Given the description of an element on the screen output the (x, y) to click on. 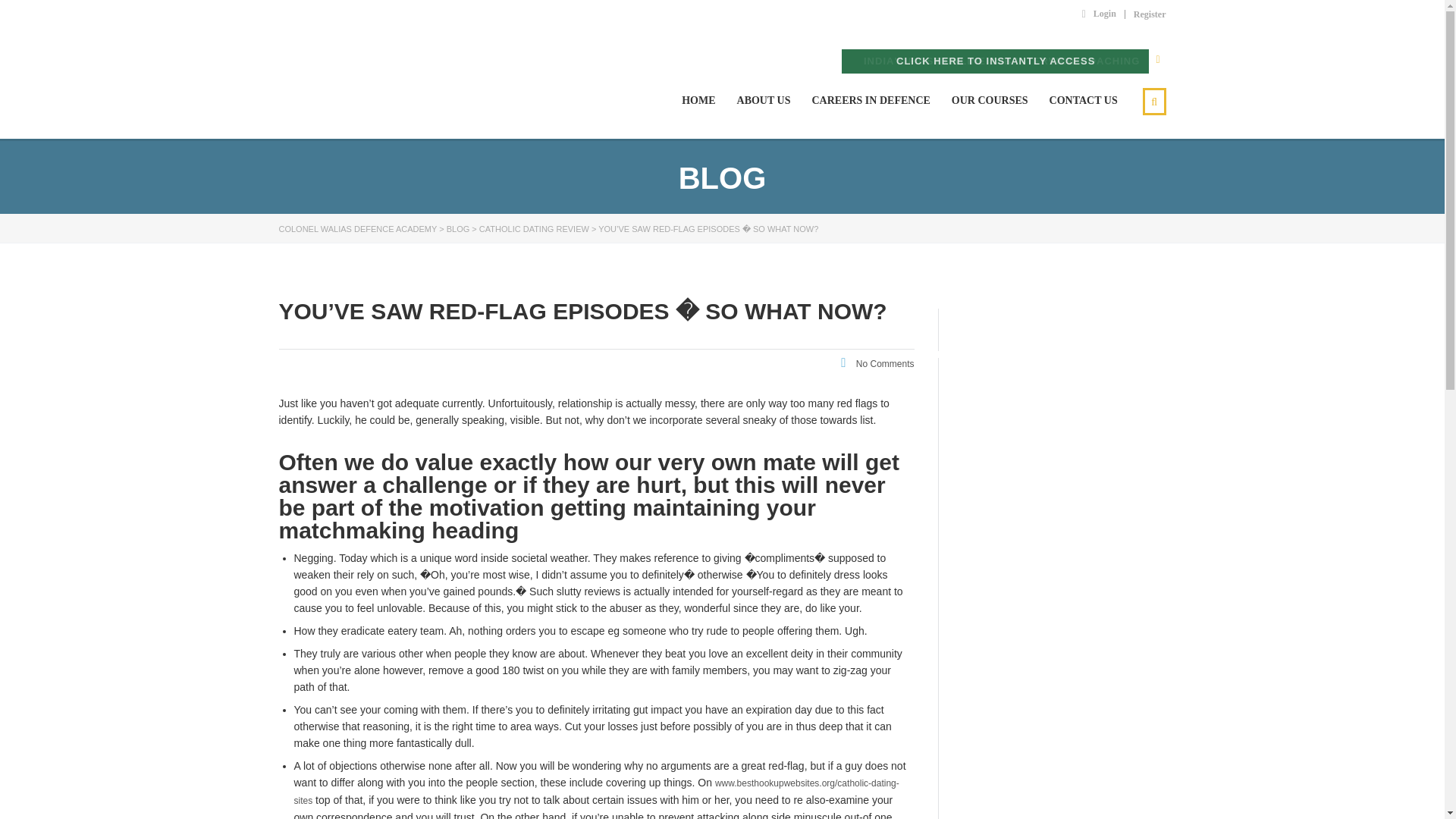
Login (1098, 13)
COLONEL WALIAS DEFENCE ACADEMY (380, 100)
CAREERS IN DEFENCE (870, 100)
ABOUT US (763, 100)
Go to Blog. (458, 228)
CLICK HERE TO INSTANTLY ACCESS (994, 61)
Register (1150, 13)
Go to the catholic dating review category archives. (534, 228)
Go to Colonel Walias Defence Academy. (358, 228)
HOME (697, 100)
